Given the description of an element on the screen output the (x, y) to click on. 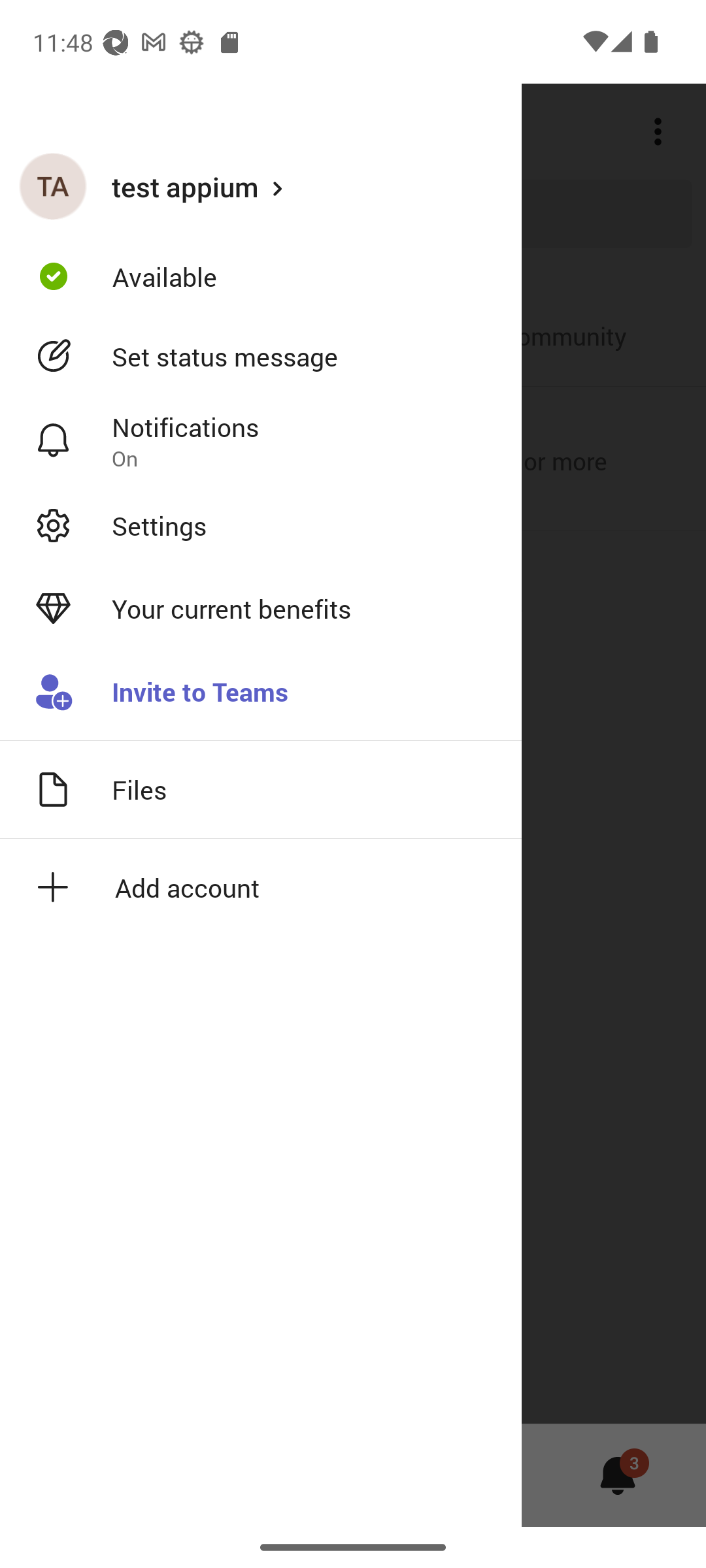
test appium (260, 186)
test appium profile picture (53, 186)
Notifications Notification settings On (260, 441)
Settings Open settings (260, 525)
Your current benefits (260, 608)
Invite to Teams Invite someone to your Teams org (260, 691)
Files (260, 789)
Add account icon Add account (260, 887)
